Given the description of an element on the screen output the (x, y) to click on. 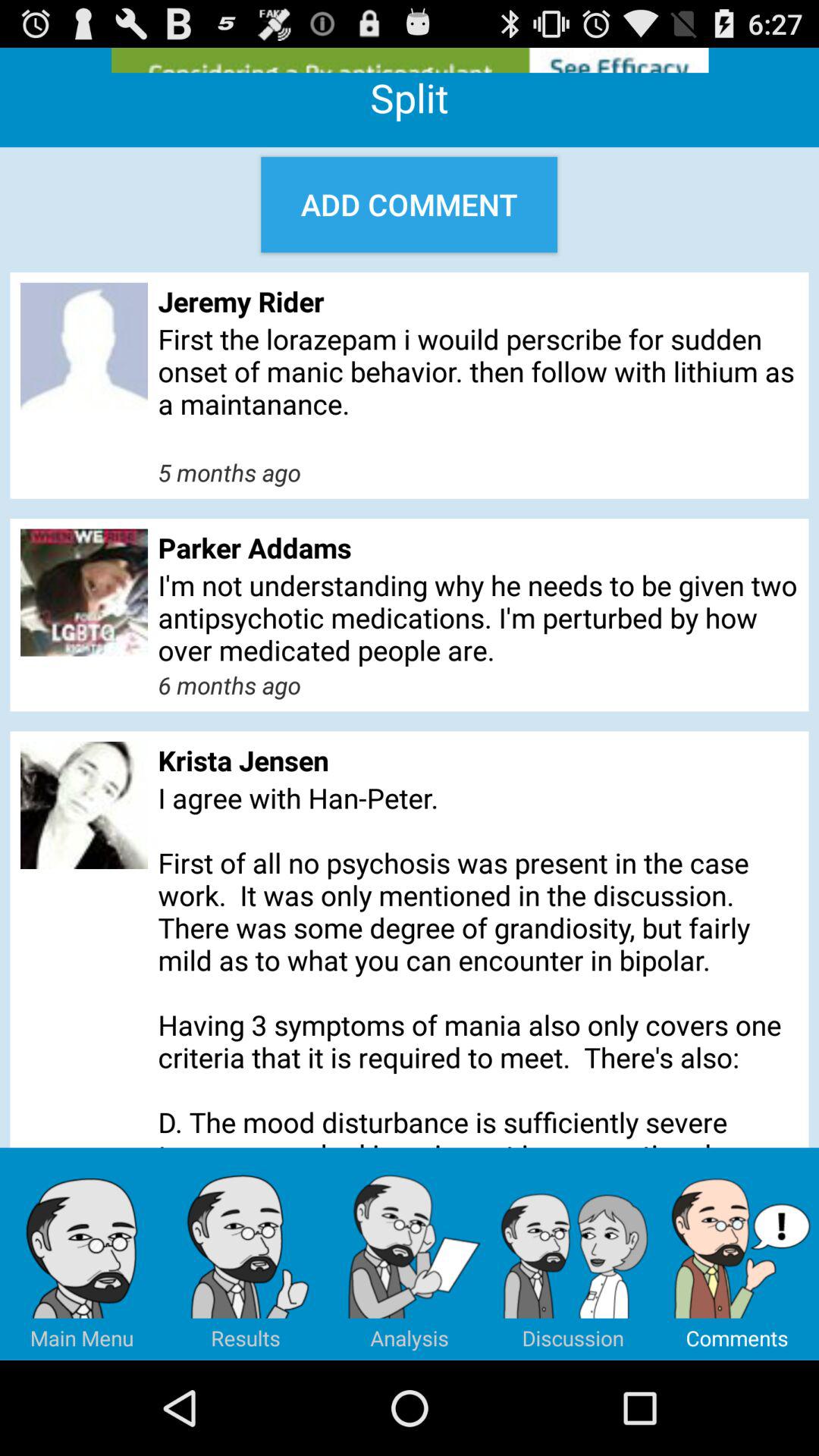
open icon below the i agree with icon (81, 1253)
